Given the description of an element on the screen output the (x, y) to click on. 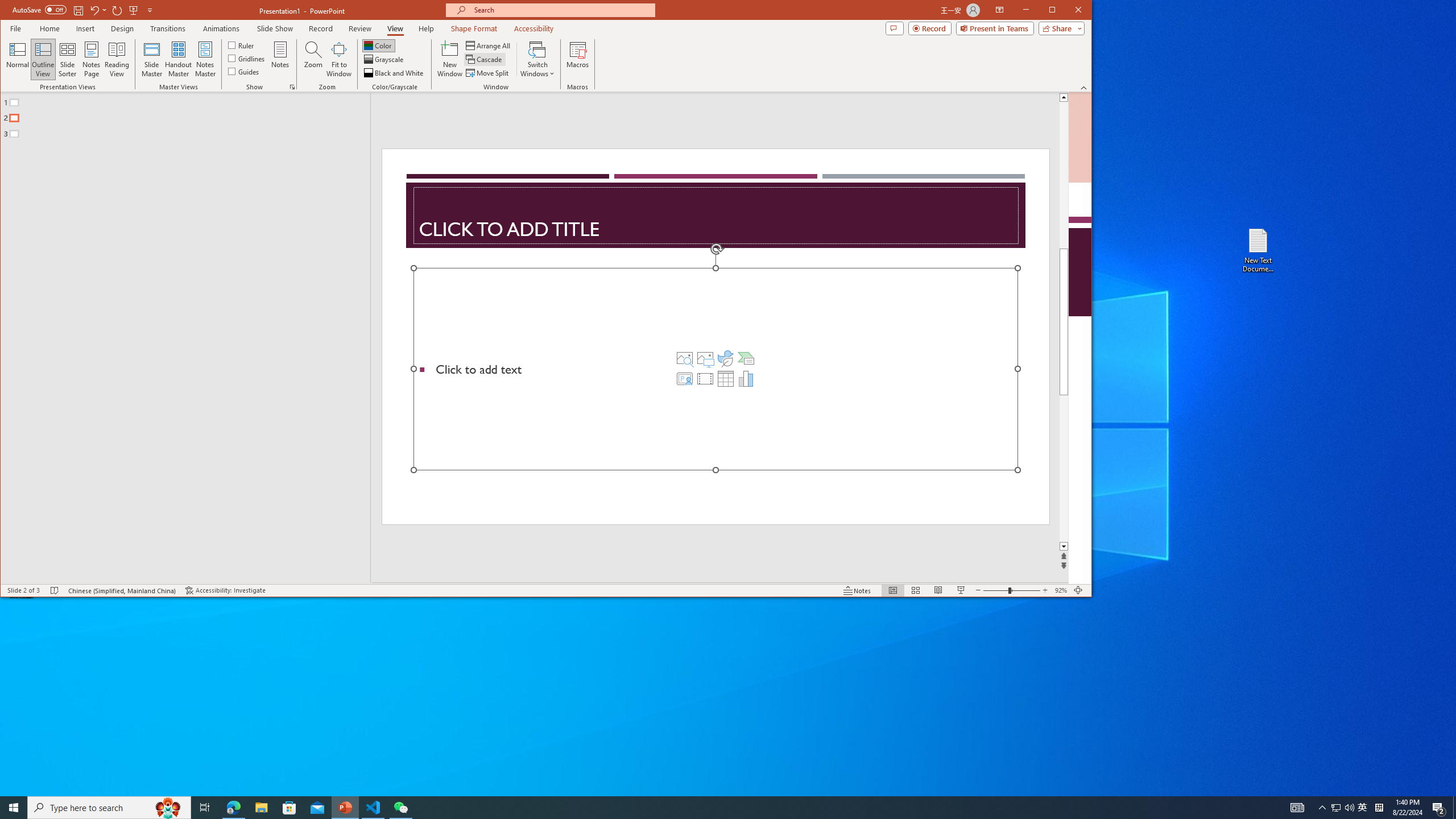
Arrange All (488, 45)
Notes Master (204, 59)
Grid Settings... (292, 86)
Gridlines (246, 57)
Insert a SmartArt Graphic (745, 357)
